Given the description of an element on the screen output the (x, y) to click on. 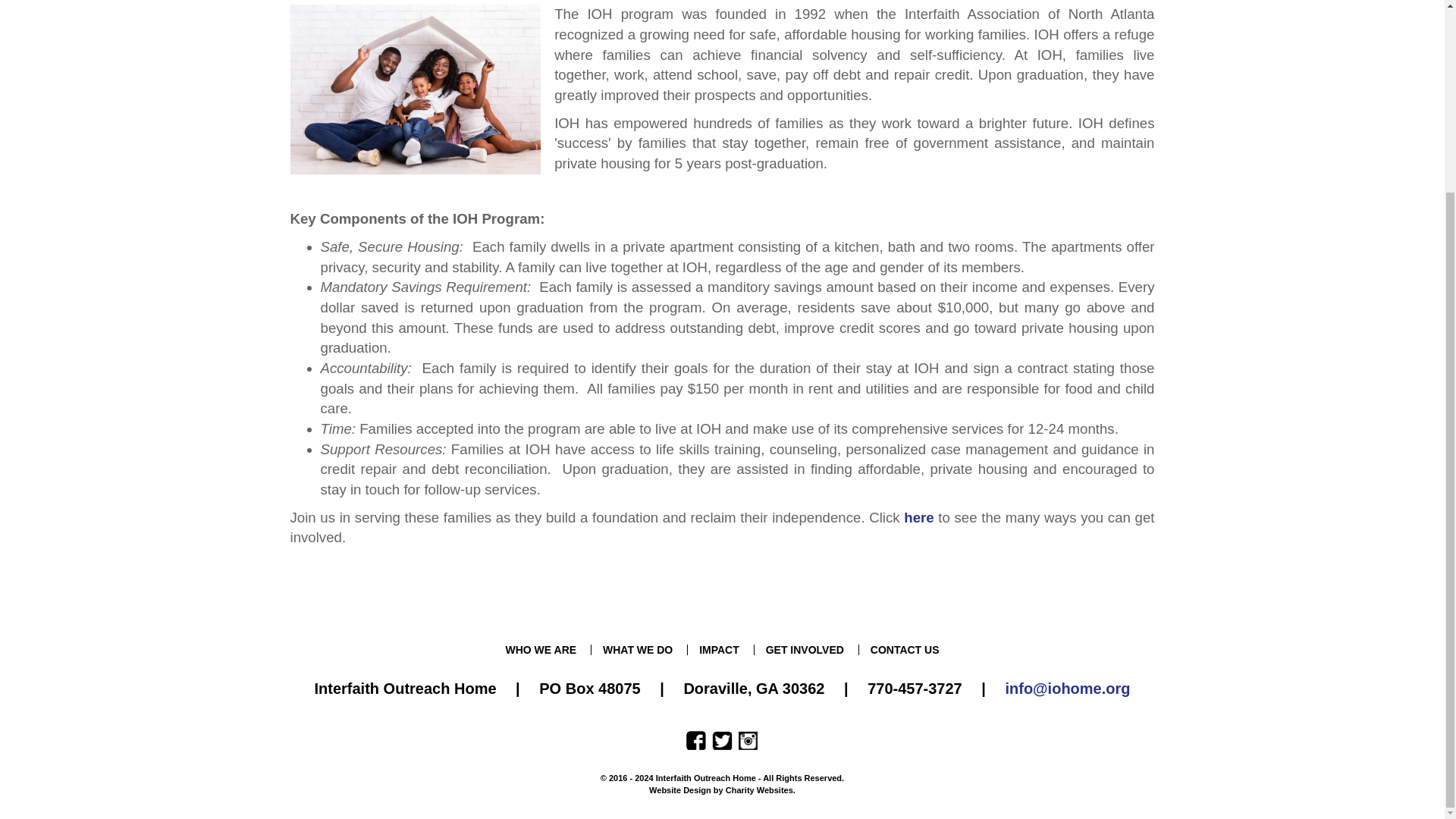
WHO WE ARE (540, 649)
WHAT WE DO (637, 649)
here (918, 517)
